Given the description of an element on the screen output the (x, y) to click on. 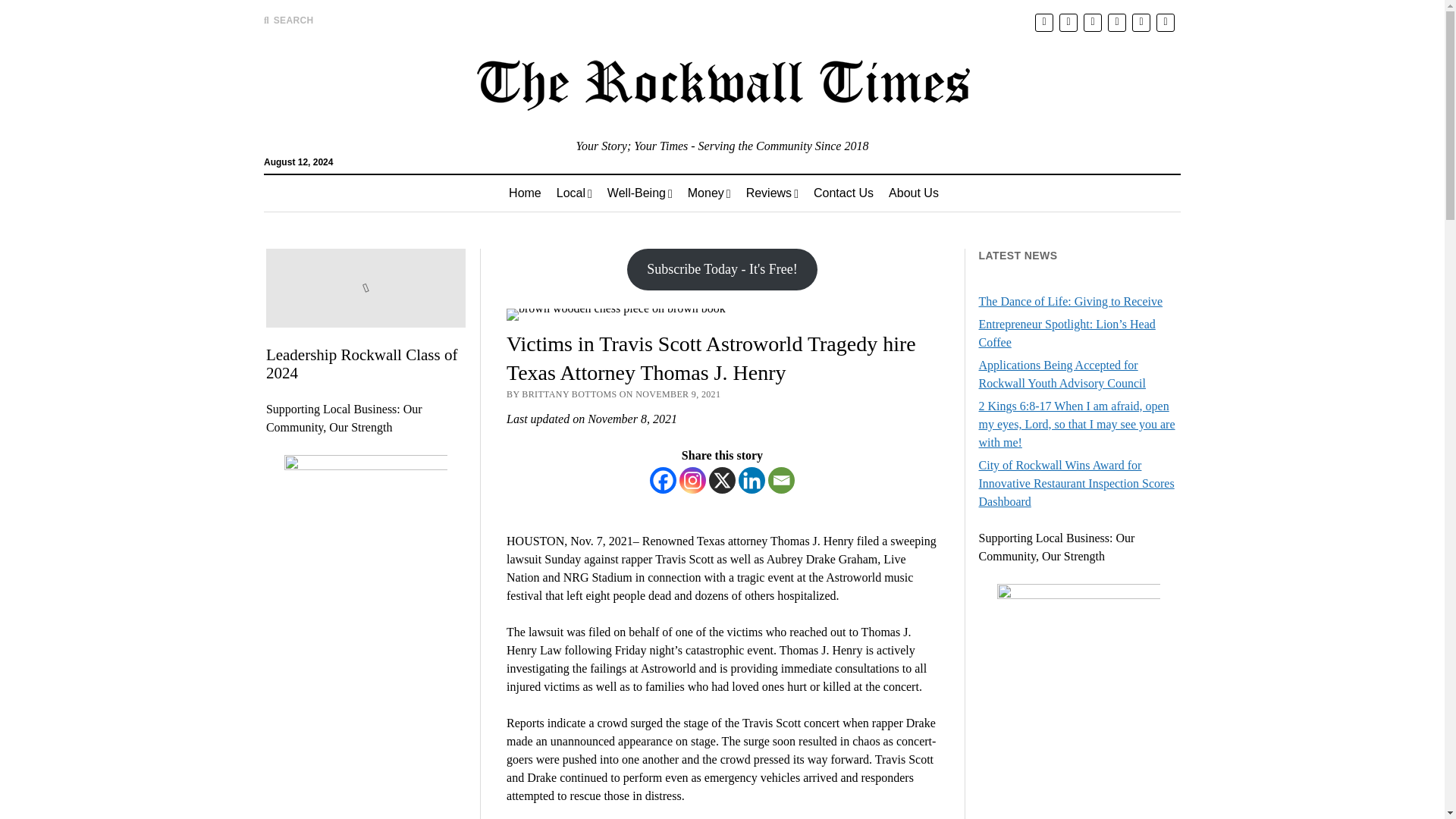
Instagram (692, 479)
Linkedin (751, 479)
Email (781, 479)
phone (1165, 22)
Contact Us (843, 193)
Home (524, 193)
Money (708, 193)
Local (574, 193)
Facebook (663, 479)
Well-Being (639, 193)
